Given the description of an element on the screen output the (x, y) to click on. 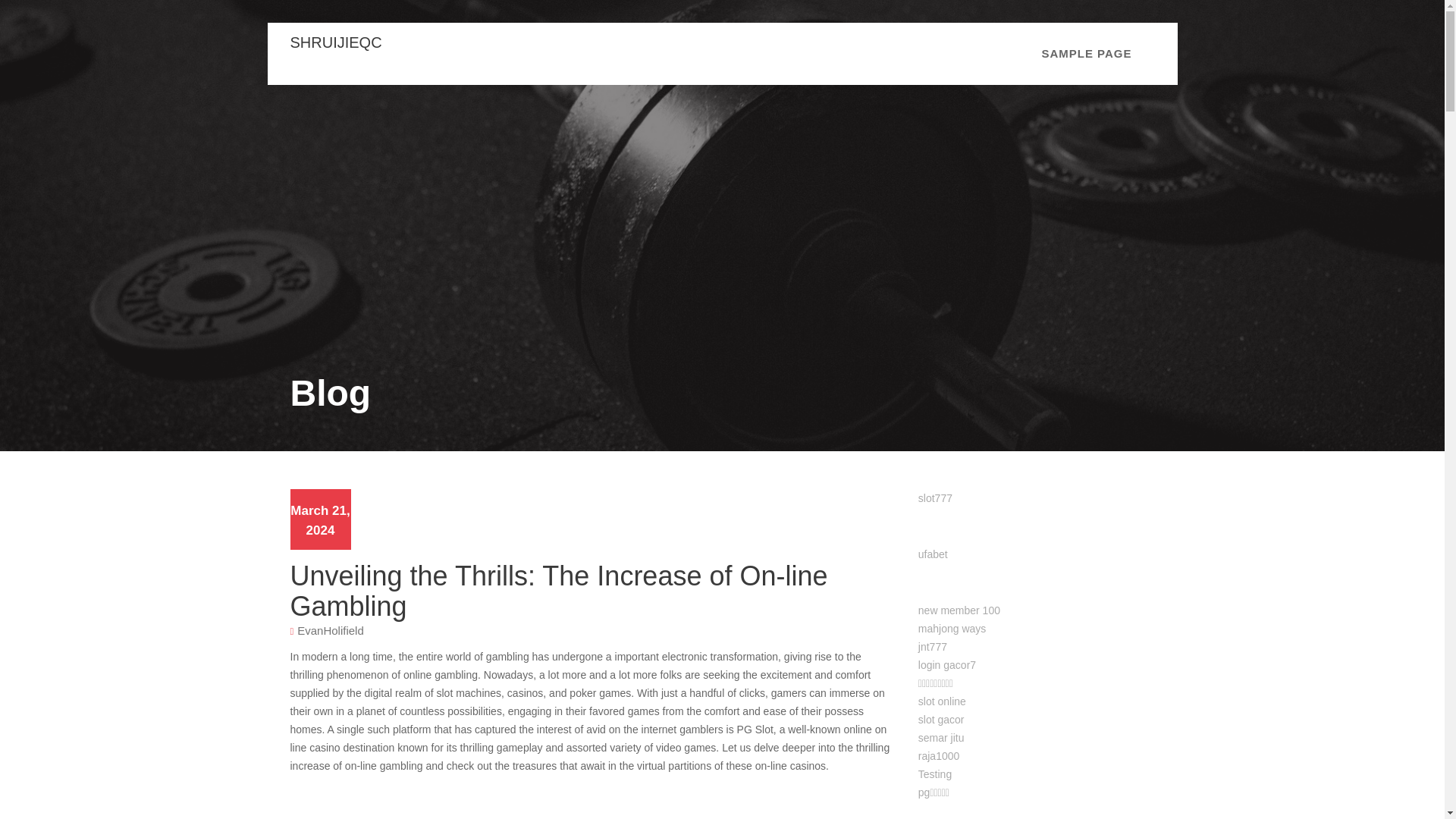
ufabet (932, 553)
mahjong ways (952, 628)
Testing (935, 774)
login gacor7 (946, 664)
March 21, 2024 (319, 520)
jnt777 (932, 646)
slot777 (935, 498)
slot online (942, 701)
slot gacor (940, 719)
raja1000 (938, 756)
shruijieqc (335, 42)
SHRUIJIEQC (335, 42)
new member 100 (959, 610)
SAMPLE PAGE (1085, 53)
